Given the description of an element on the screen output the (x, y) to click on. 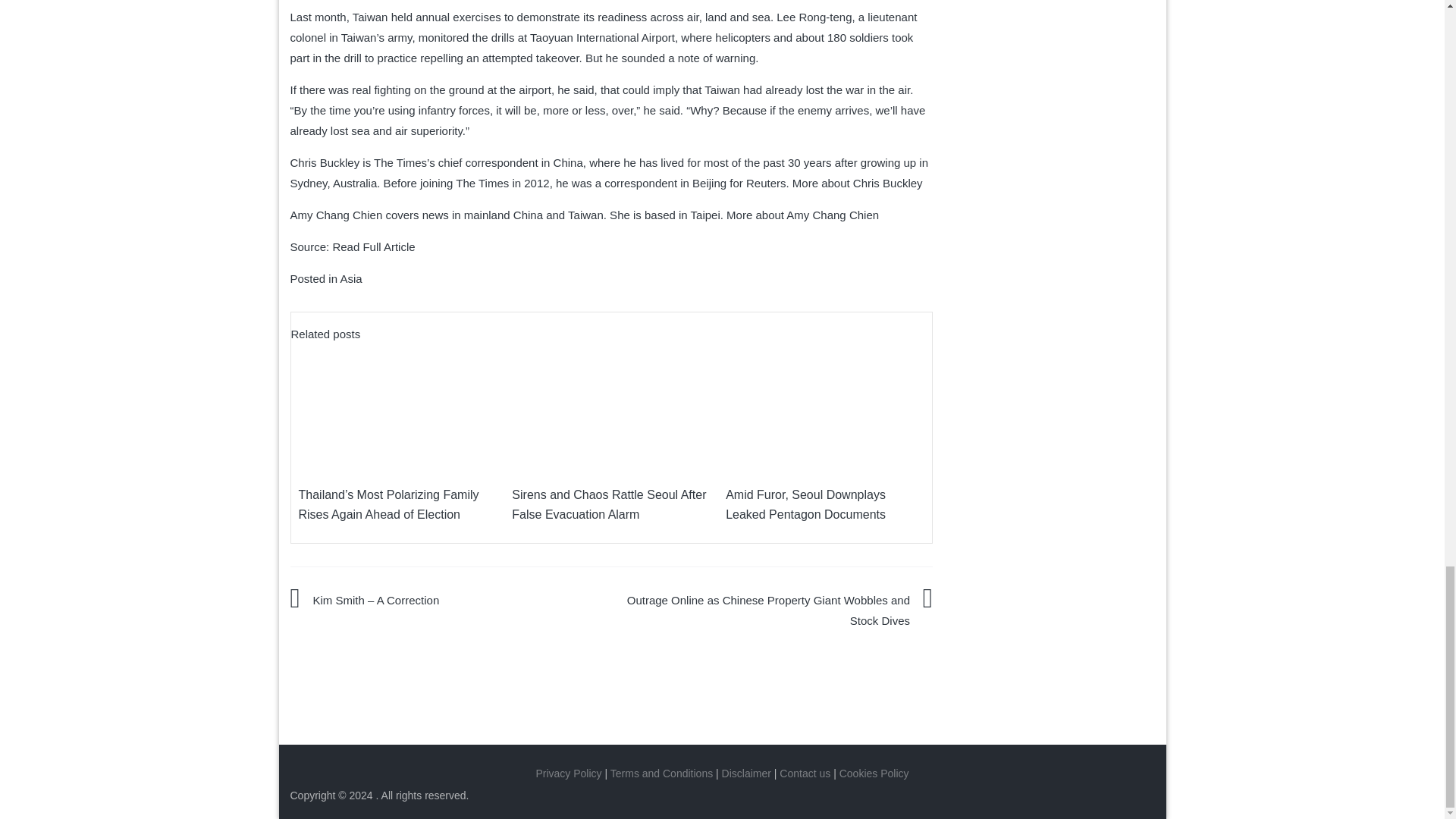
Sirens and Chaos Rattle Seoul After False Evacuation Alarm (611, 405)
Asia (350, 278)
Sirens and Chaos Rattle Seoul After False Evacuation Alarm (611, 406)
Sirens and Chaos Rattle Seoul After False Evacuation Alarm (609, 504)
Amid Furor, Seoul Downplays Leaked Pentagon Documents (824, 406)
Amid Furor, Seoul Downplays Leaked Pentagon Documents (824, 405)
Read Full Article (372, 246)
Sirens and Chaos Rattle Seoul After False Evacuation Alarm (609, 504)
Amid Furor, Seoul Downplays Leaked Pentagon Documents (805, 504)
